Given the description of an element on the screen output the (x, y) to click on. 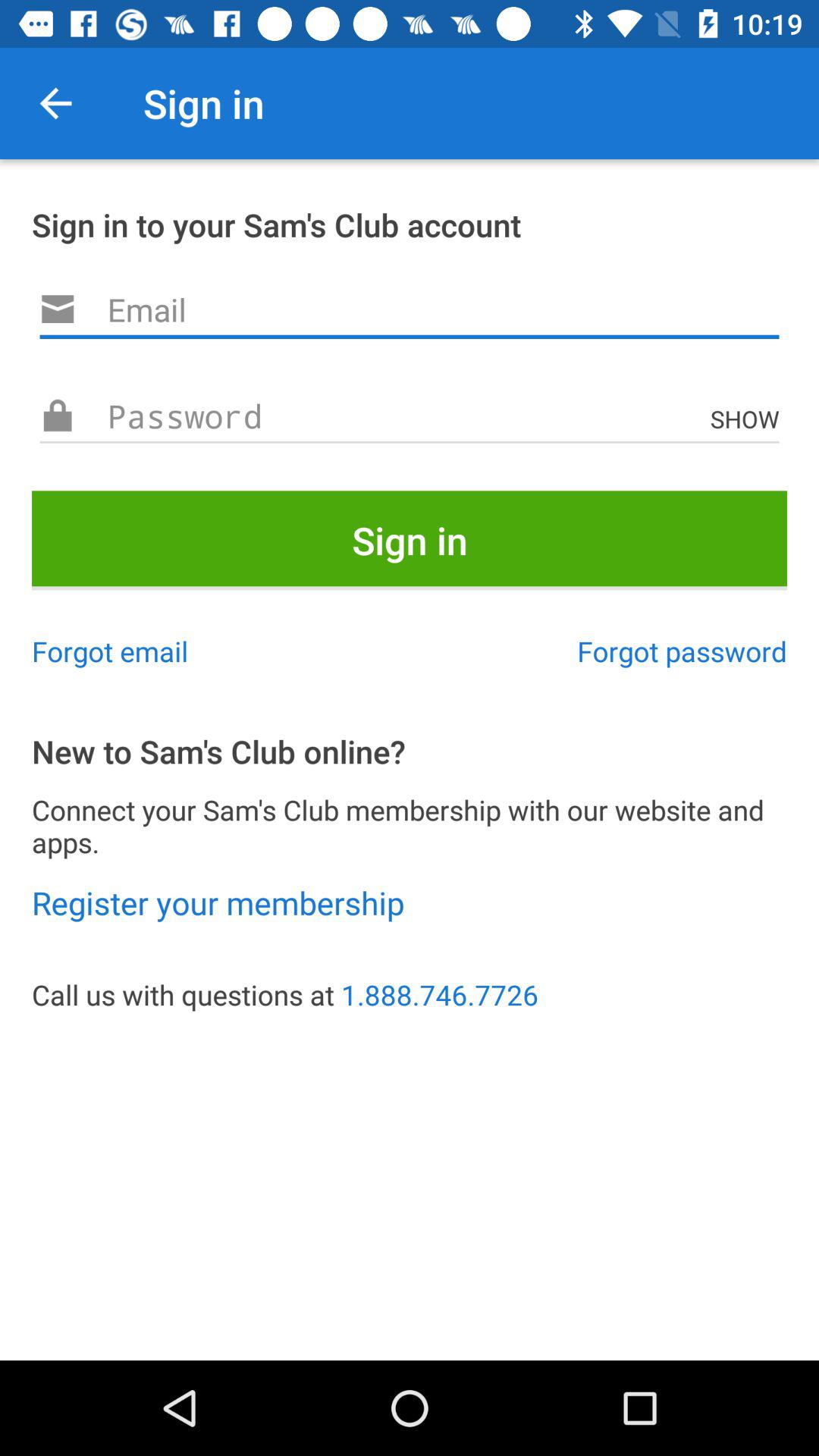
choose the icon above sign in (748, 418)
